Given the description of an element on the screen output the (x, y) to click on. 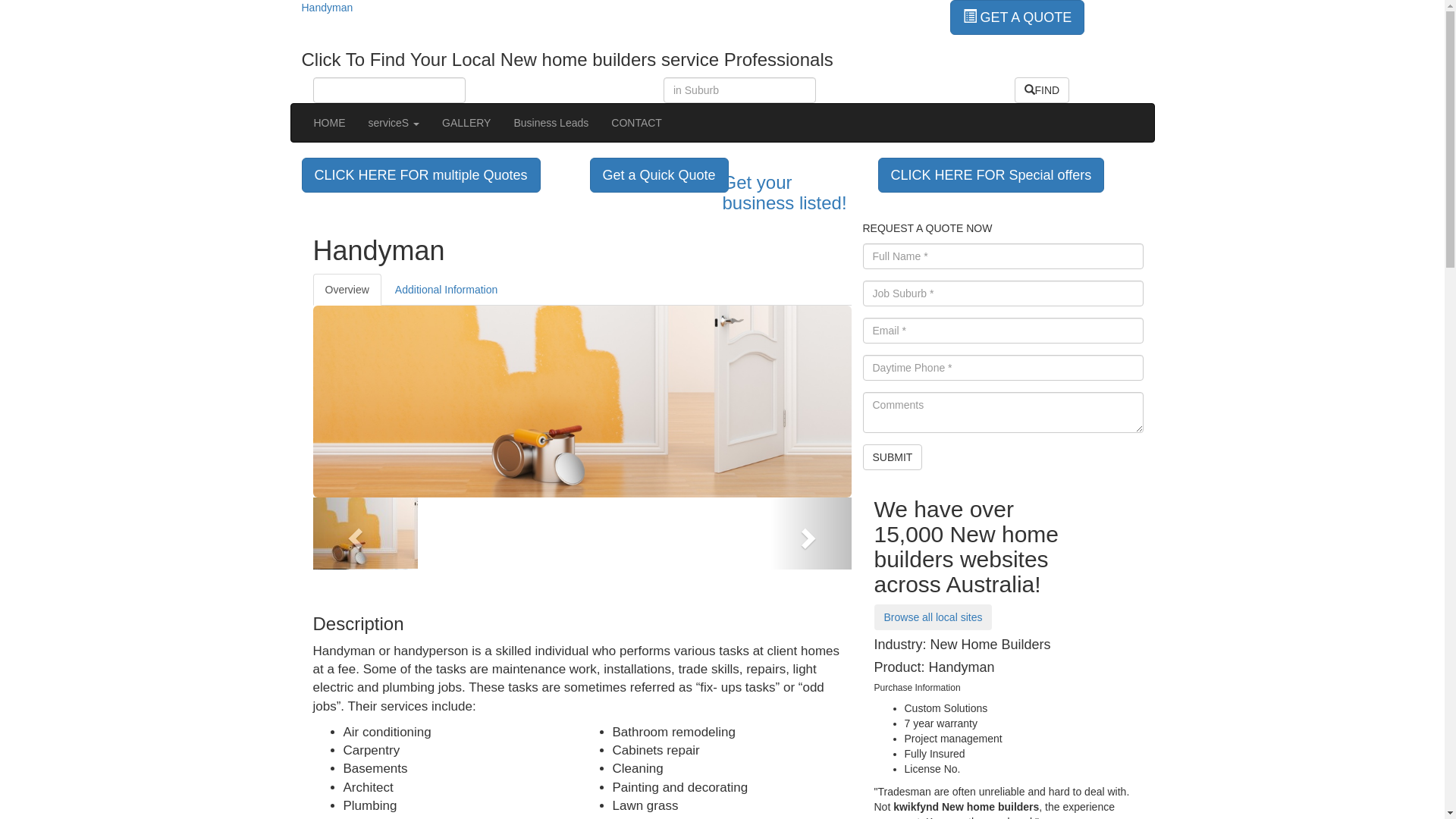
SUBMIT Element type: text (892, 457)
CLICK HERE FOR multiple Quotes Element type: text (420, 174)
Handyman Element type: text (327, 7)
Overview Element type: text (346, 289)
Get your business listed! Element type: text (793, 192)
serviceS Element type: text (393, 122)
GET A QUOTE Element type: text (1016, 17)
Business Leads Element type: text (550, 122)
CLICK HERE FOR multiple Quotes Element type: text (420, 174)
HOME Element type: text (328, 122)
Get a Quick Quote Element type: text (658, 174)
Get a Quick Quote Element type: text (658, 174)
CONTACT Element type: text (636, 122)
Browse all local sites Element type: text (932, 617)
GALLERY Element type: text (466, 122)
CLICK HERE FOR Special offers Element type: text (991, 174)
Browse all local sites Element type: text (932, 616)
GET A QUOTE Element type: text (1016, 16)
CLICK HERE FOR Special offers Element type: text (991, 174)
Additional Information Element type: text (445, 289)
FIND Element type: text (1042, 90)
